Given the description of an element on the screen output the (x, y) to click on. 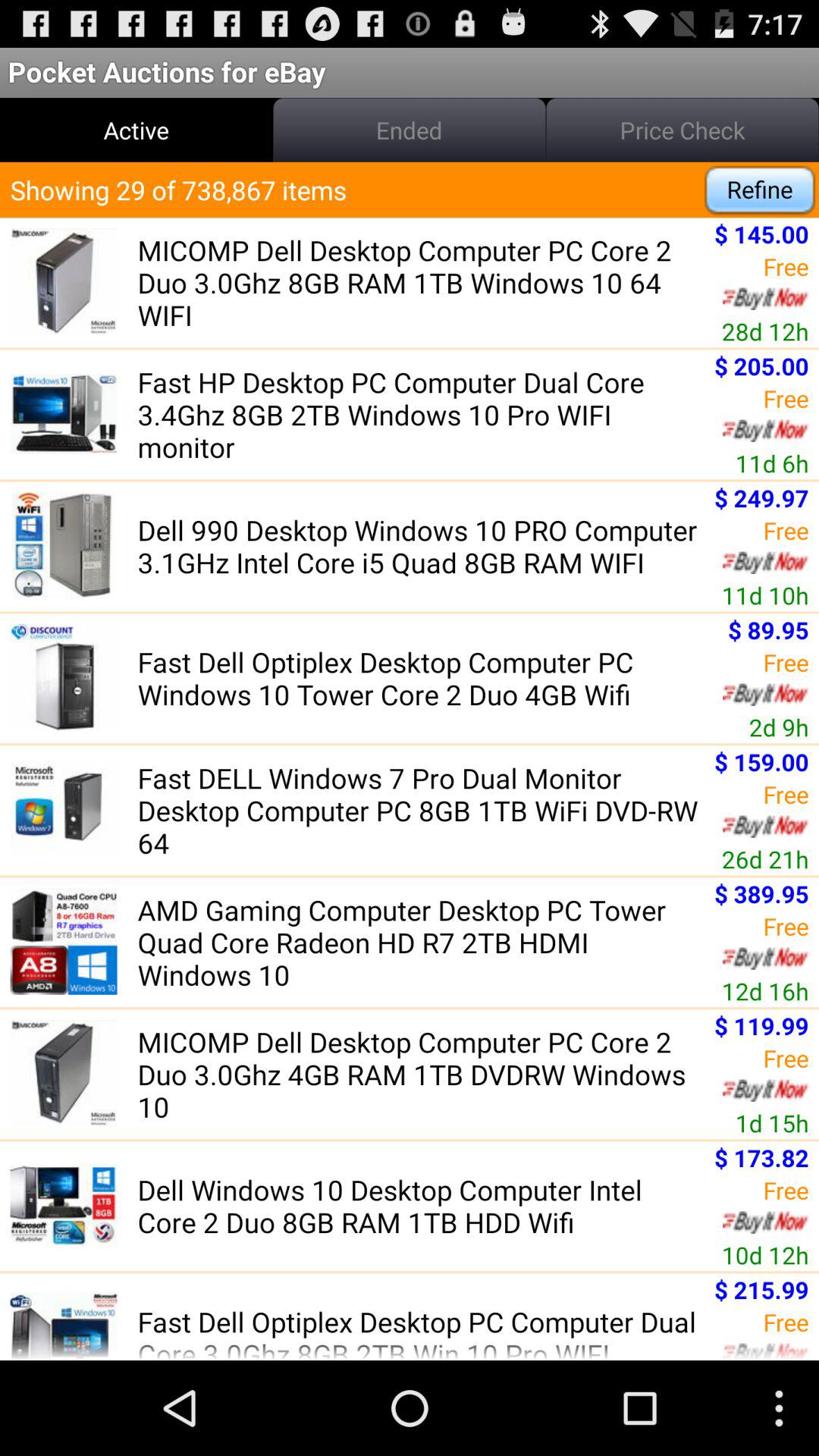
scroll to 26d 21h icon (764, 858)
